Given the description of an element on the screen output the (x, y) to click on. 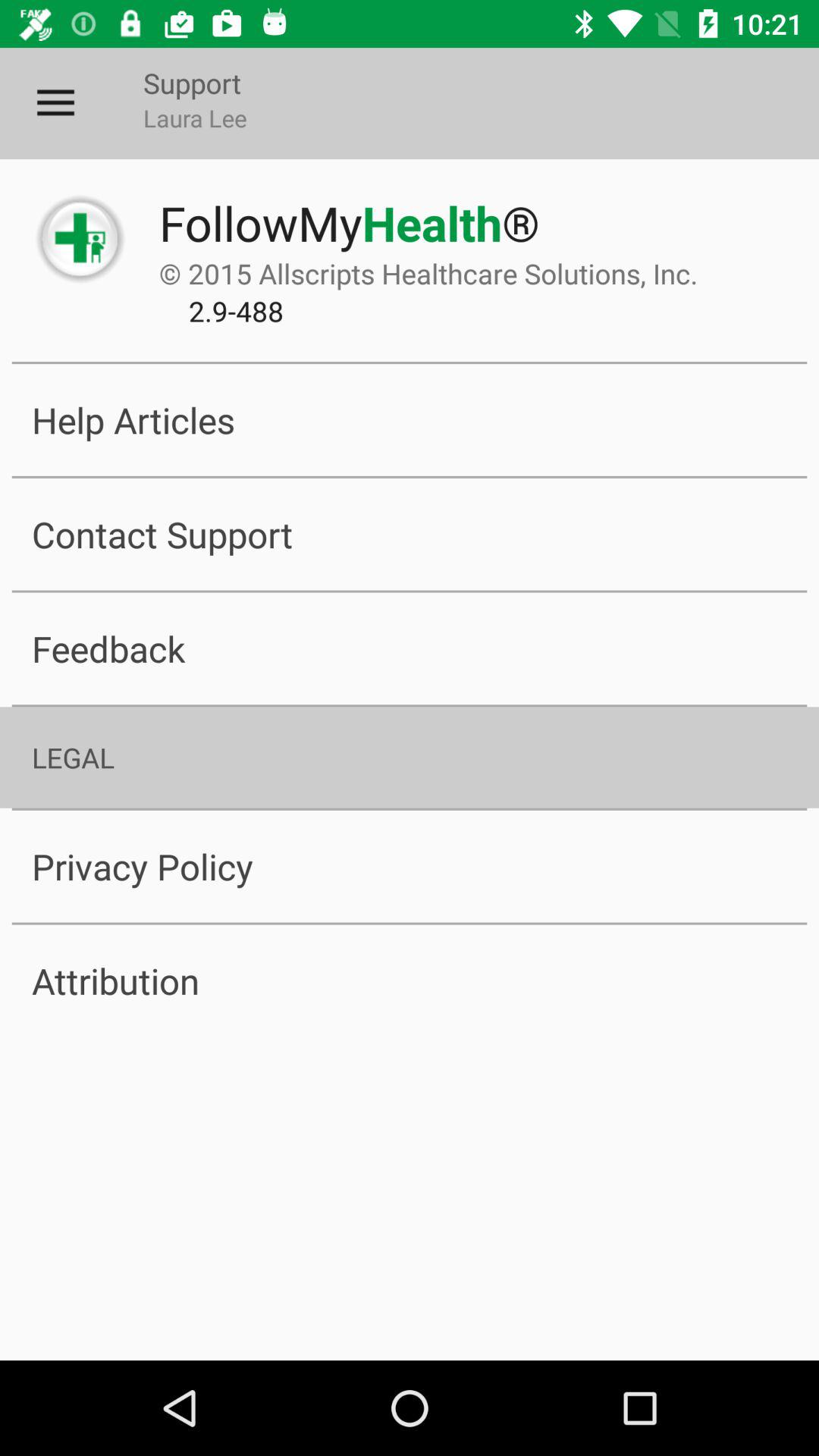
press contact support (409, 534)
